Given the description of an element on the screen output the (x, y) to click on. 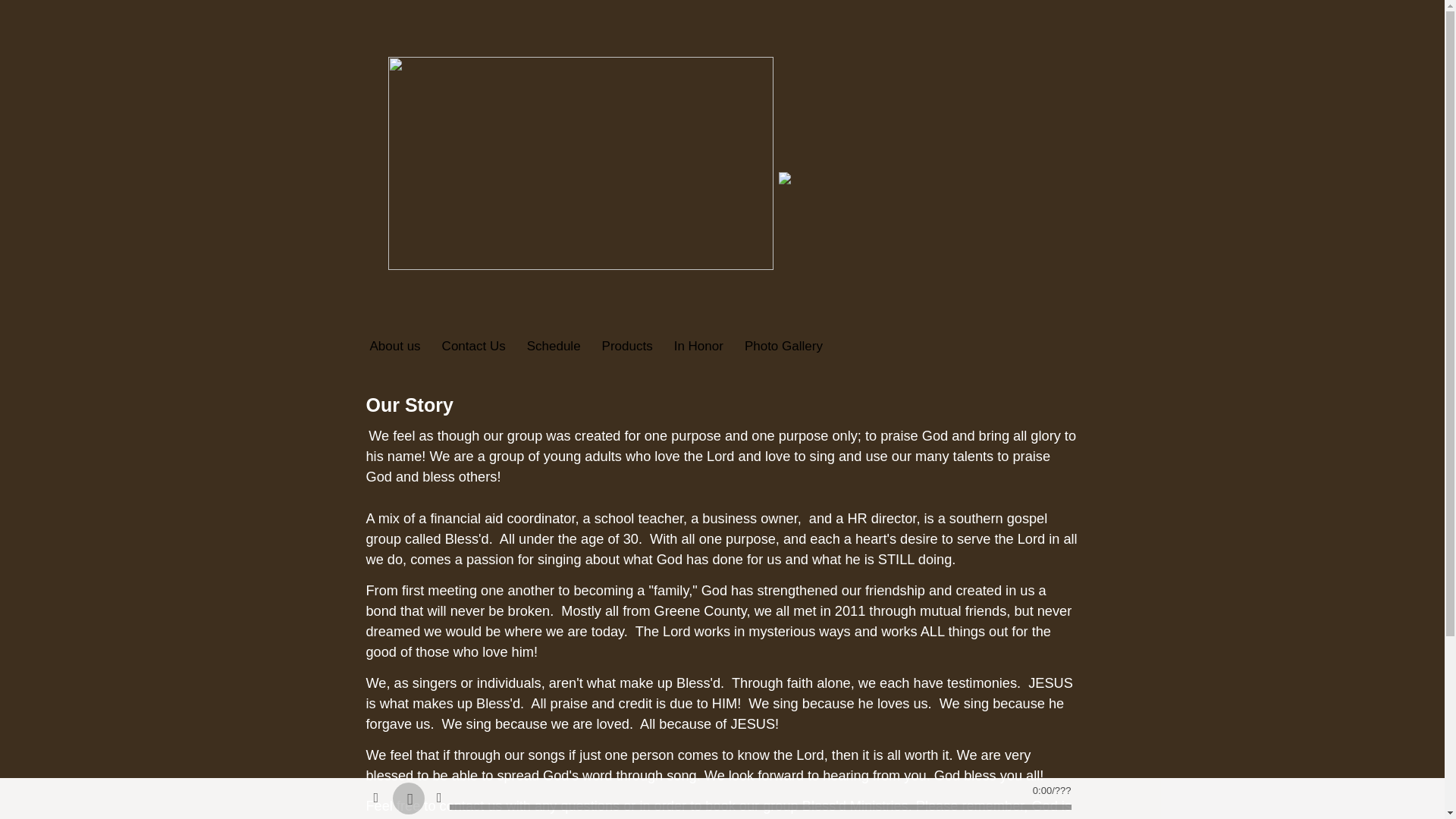
Photo Gallery (777, 346)
Products (620, 346)
About us (394, 346)
In Honor (692, 346)
Contact Us (467, 346)
Schedule (547, 346)
